Given the description of an element on the screen output the (x, y) to click on. 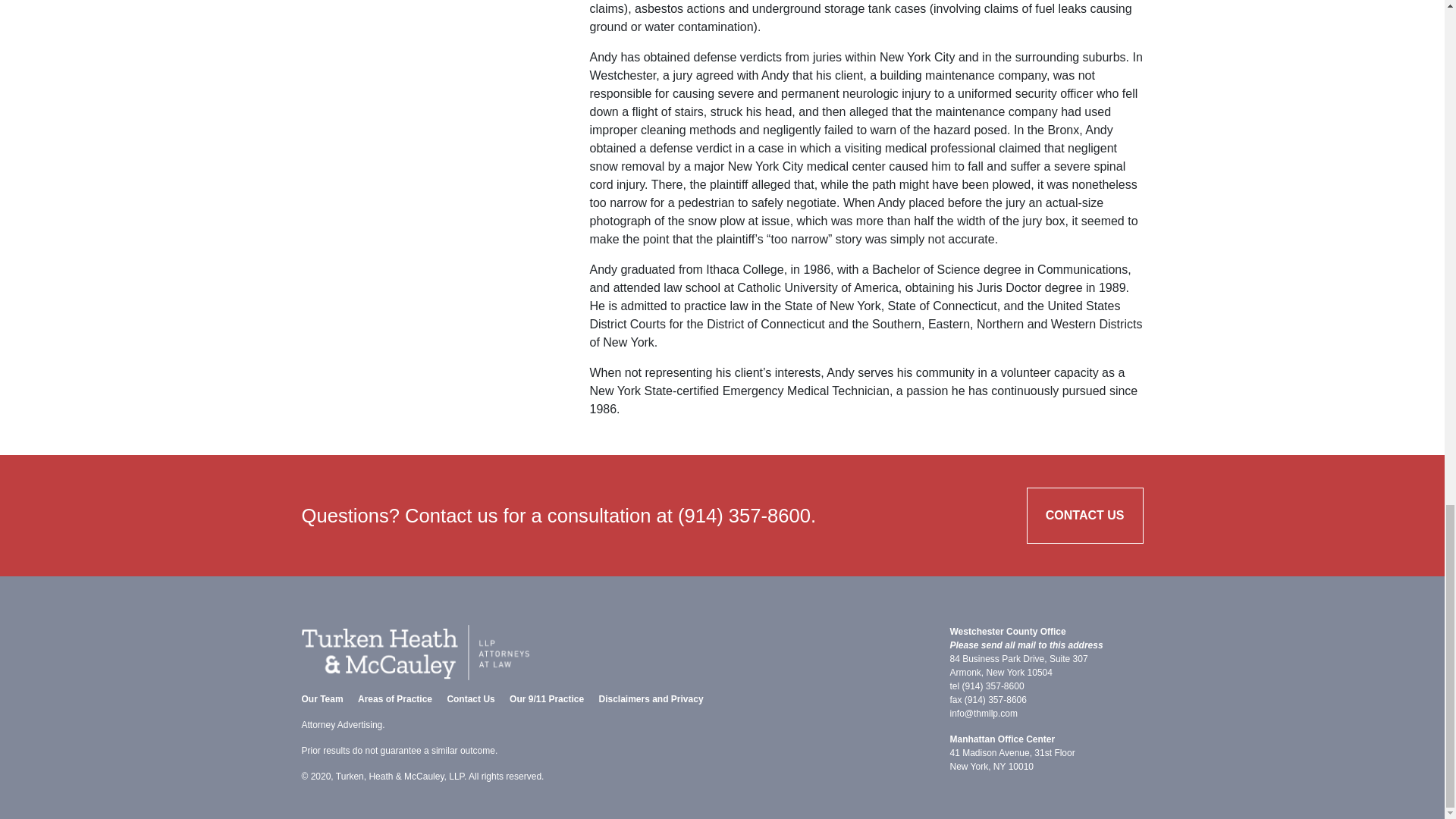
CONTACT US (1084, 515)
Our Team (322, 698)
Contact Us (470, 698)
Areas of Practice (395, 698)
Disclaimers and Privacy (650, 698)
